Given the description of an element on the screen output the (x, y) to click on. 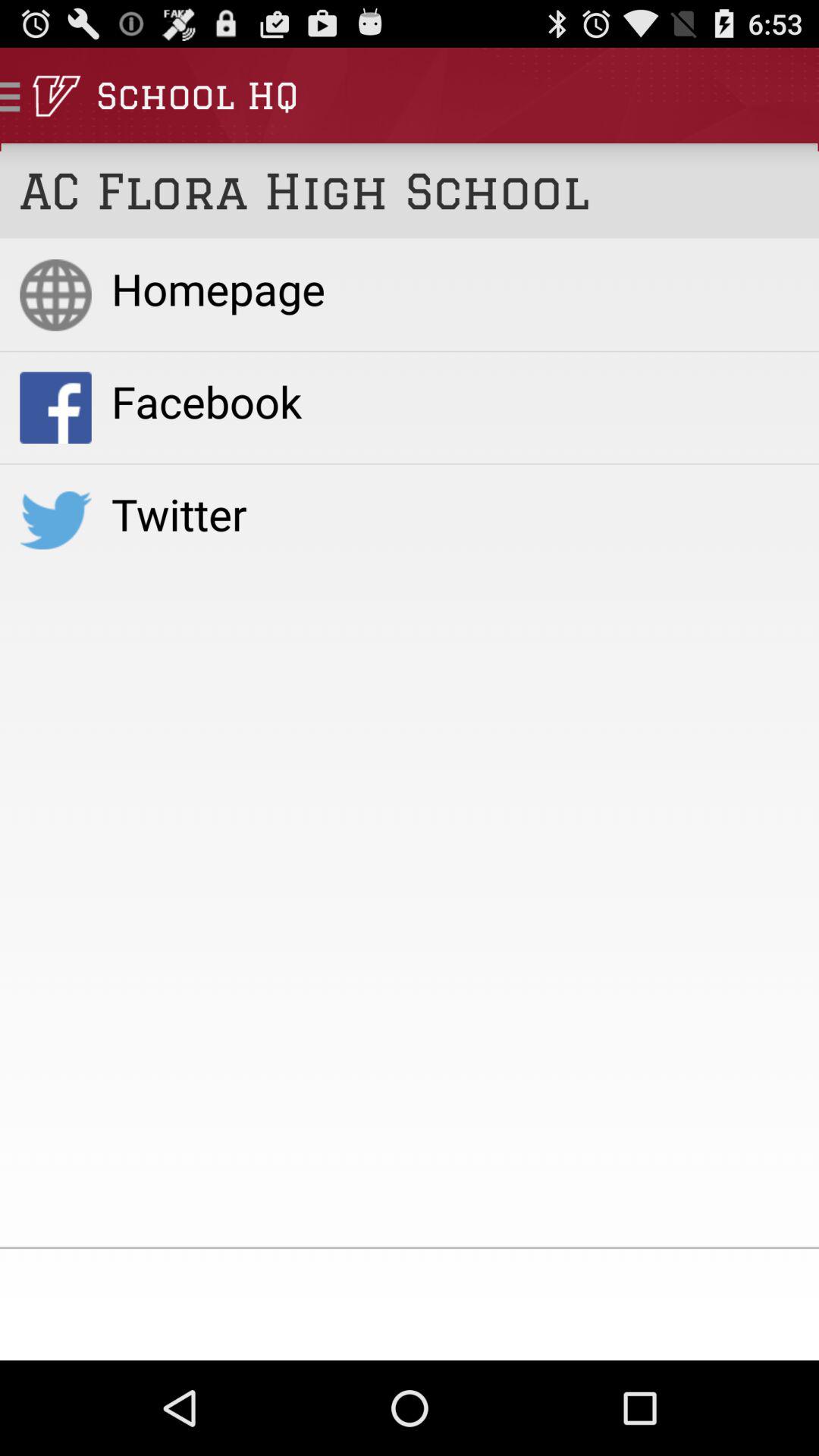
choose the icon above twitter icon (455, 400)
